Given the description of an element on the screen output the (x, y) to click on. 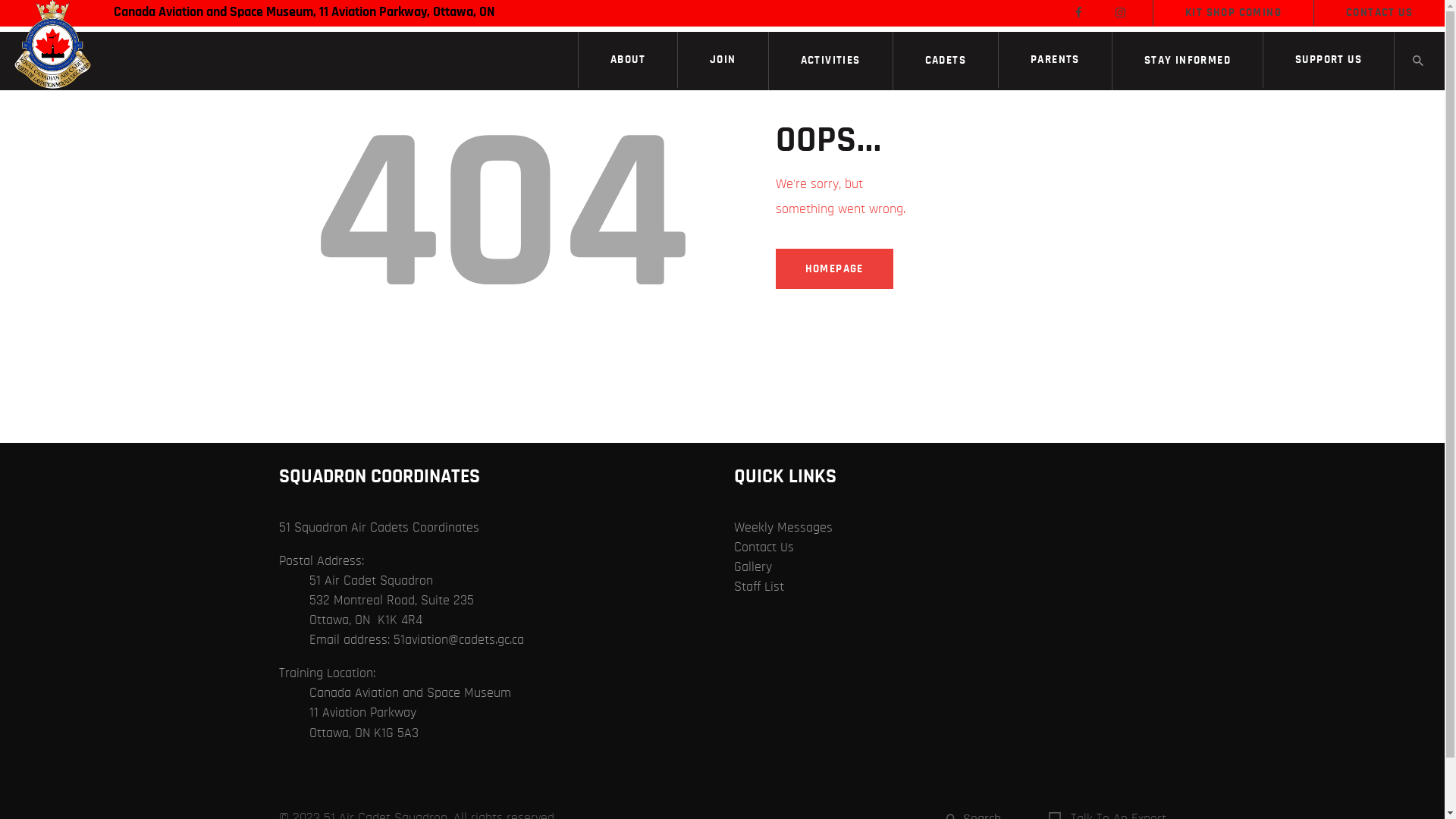
Staff List Element type: text (759, 586)
Weekly Messages Element type: text (783, 527)
SUPPORT US Element type: text (1328, 59)
Gallery Element type: text (752, 567)
PARENTS Element type: text (1054, 59)
HOMEPAGE Element type: text (833, 268)
Contact Us Element type: text (763, 547)
JOIN Element type: text (722, 59)
STAY INFORMED Element type: text (1187, 61)
CONTACT US Element type: text (1379, 12)
ABOUT Element type: text (627, 59)
51aviation@cadets.gc.ca Element type: text (457, 639)
CADETS Element type: text (945, 61)
ACTIVITIES Element type: text (830, 61)
KIT SHOP COMING Element type: text (1233, 12)
